Given the description of an element on the screen output the (x, y) to click on. 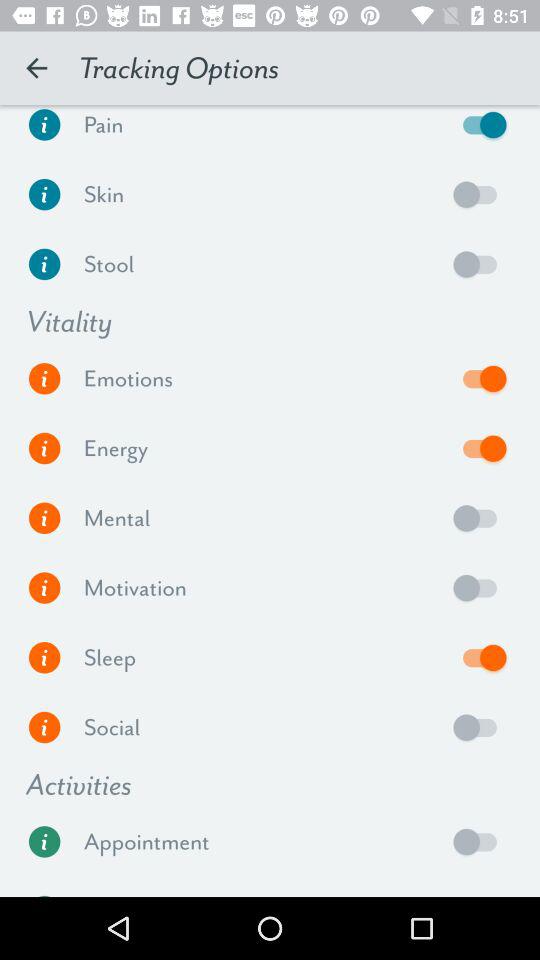
the radio button represented the whether the element is enabled or disabled based user requirement (479, 587)
